Given the description of an element on the screen output the (x, y) to click on. 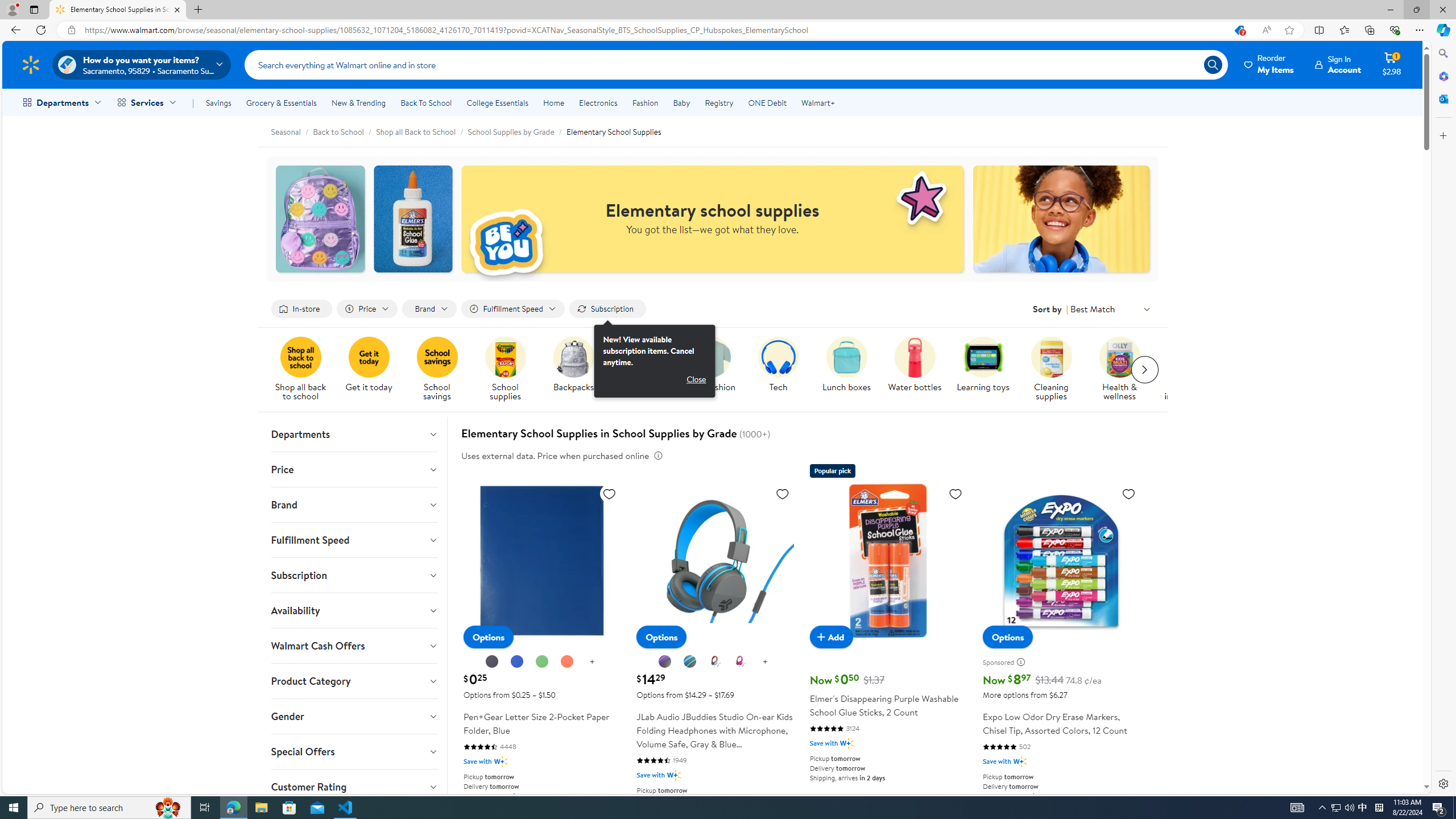
Green (541, 661)
Orange (567, 662)
